Given the description of an element on the screen output the (x, y) to click on. 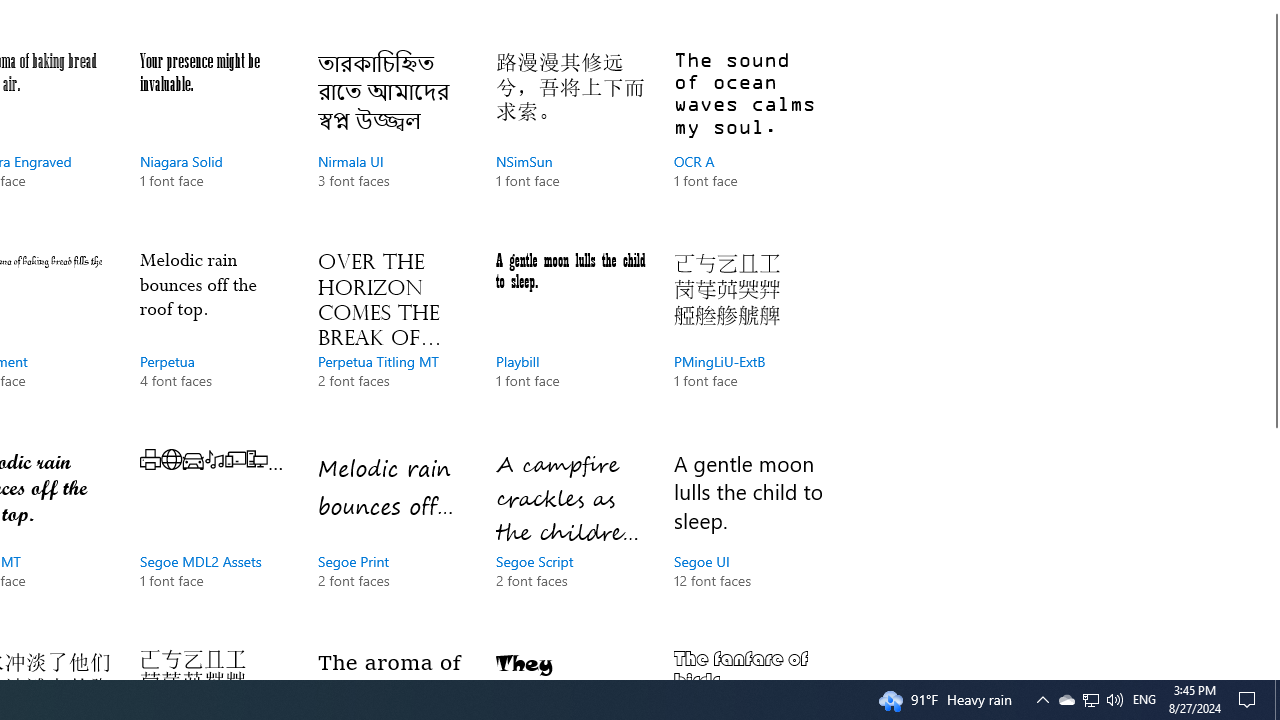
Segoe Script, 2 font faces (570, 539)
Sitka, 24 font faces (392, 659)
STCaiyun, 1 font face (748, 659)
Vertical Large Increase (1272, 545)
Vertical Small Increase (1272, 671)
PMingLiU-ExtB, 1 font face (748, 339)
SimSun-ExtB, 1 font face (214, 659)
OCR A, 1 font face (748, 139)
NSimSun, 1 font face (570, 139)
